Given the description of an element on the screen output the (x, y) to click on. 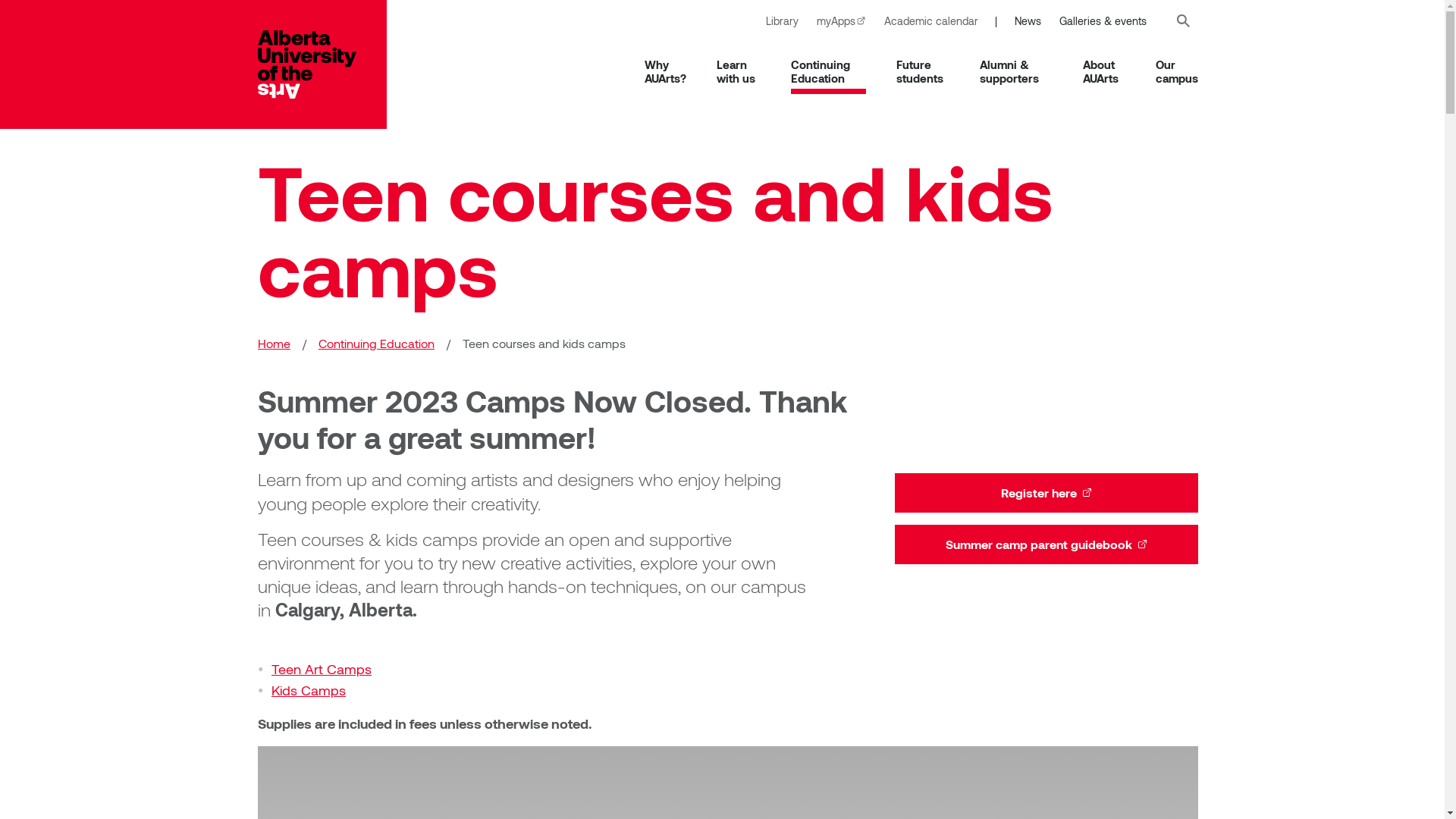
Skip to main content Element type: text (0, 0)
Register here
(external link) Element type: text (1046, 492)
News Element type: text (1027, 21)
Home Element type: hover (321, 64)
Our campus Element type: text (1176, 71)
Home Element type: text (273, 343)
Continuing Education Element type: text (828, 71)
myApps
(external link) Element type: text (841, 21)
Teen Art Camps Element type: text (321, 668)
Library Element type: text (781, 21)
Continuing Education Element type: text (376, 343)
Galleries & events Element type: text (1102, 21)
Kids Camps Element type: text (308, 689)
Academic calendar Element type: text (931, 21)
Future students Element type: text (922, 71)
Alumni & supporters Element type: text (1015, 71)
About AUArts Element type: text (1103, 71)
Learn with us Element type: text (738, 71)
Search Element type: text (1182, 20)
Summer camp parent guidebook
(external link) Element type: text (1046, 544)
Why AUArts? Element type: text (665, 71)
